Given the description of an element on the screen output the (x, y) to click on. 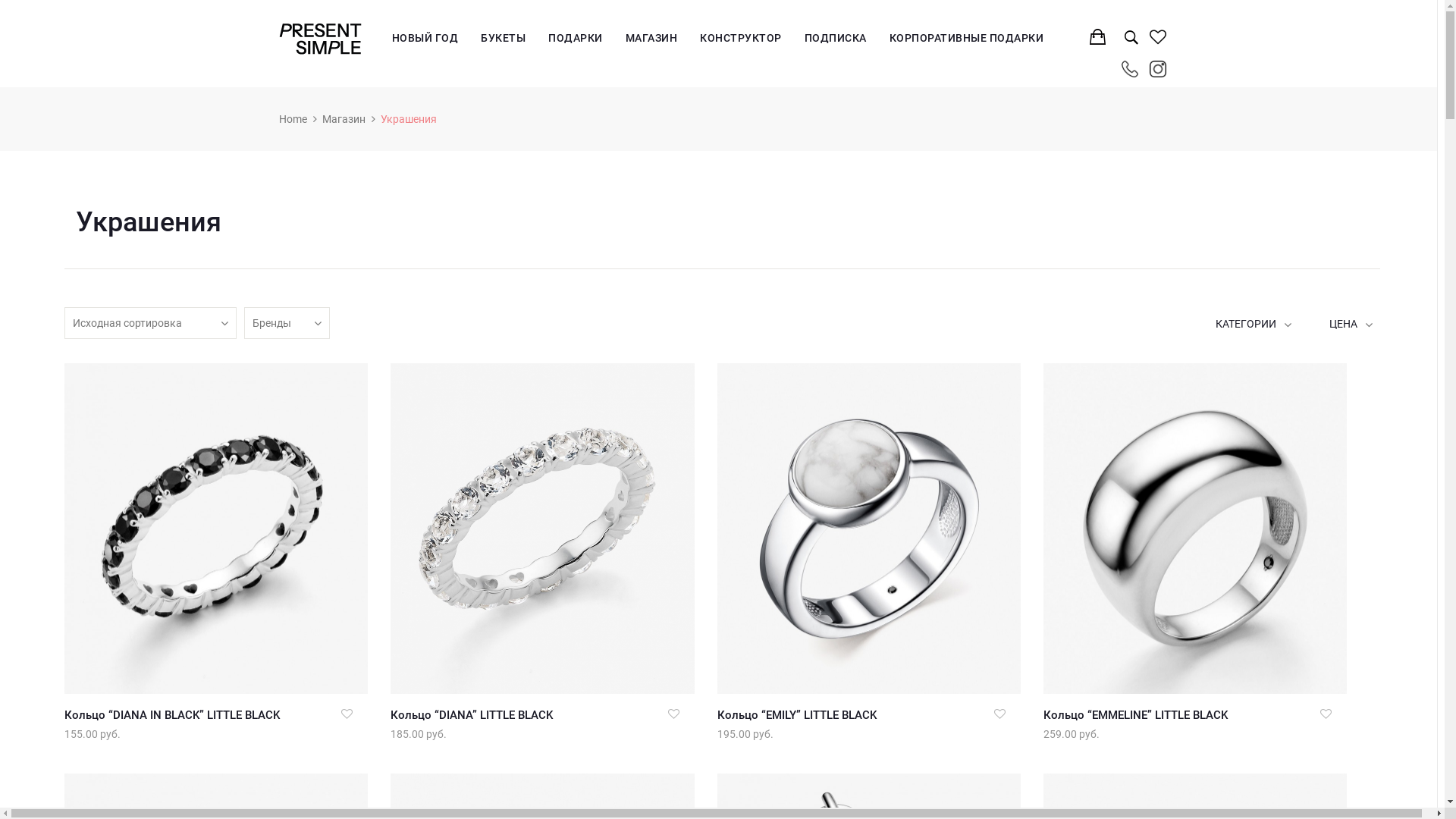
Home Element type: text (293, 118)
